Given the description of an element on the screen output the (x, y) to click on. 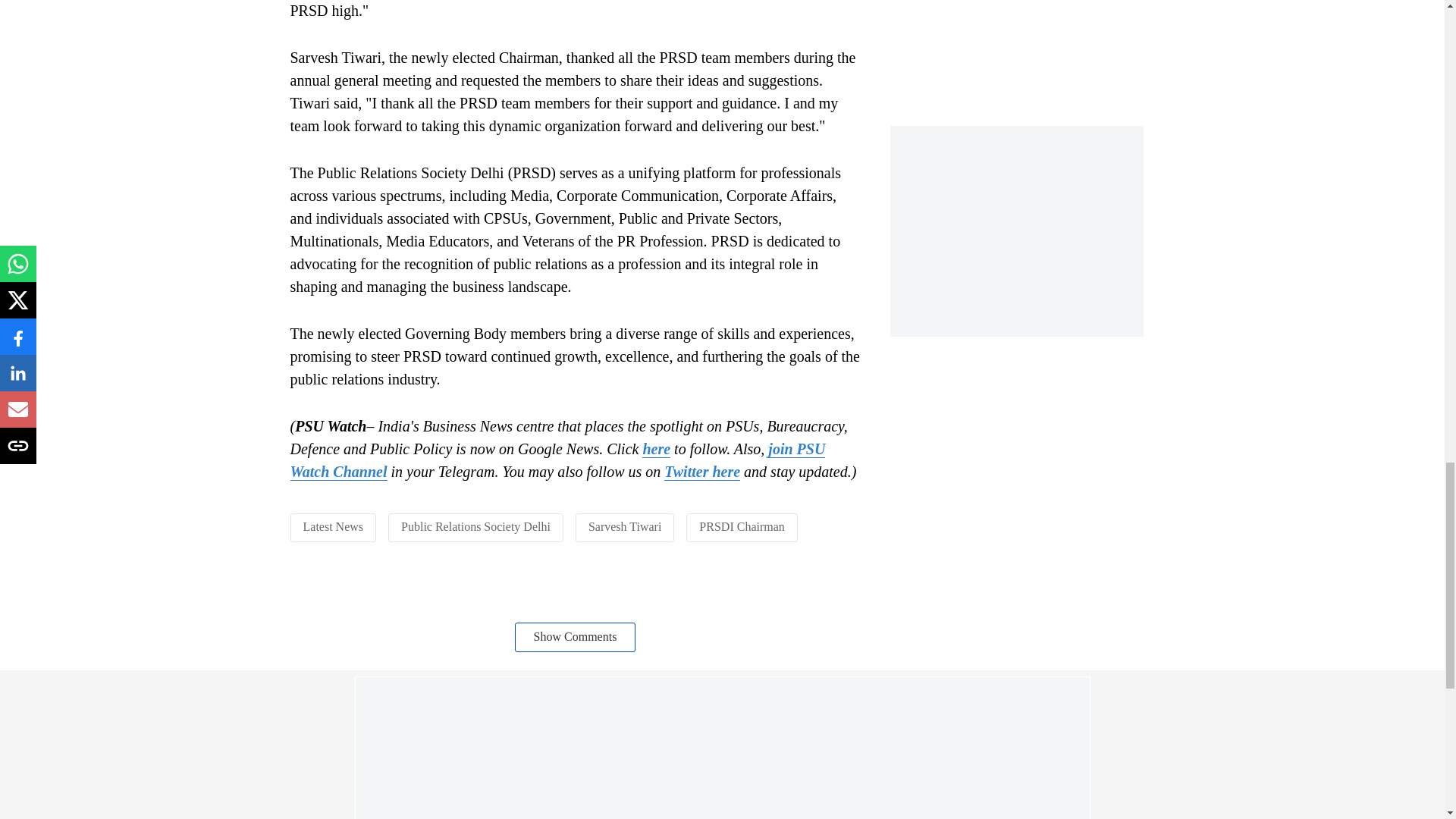
Twitter here (701, 471)
Latest News (333, 526)
here (655, 448)
join PSU Watch Channel (557, 460)
